Given the description of an element on the screen output the (x, y) to click on. 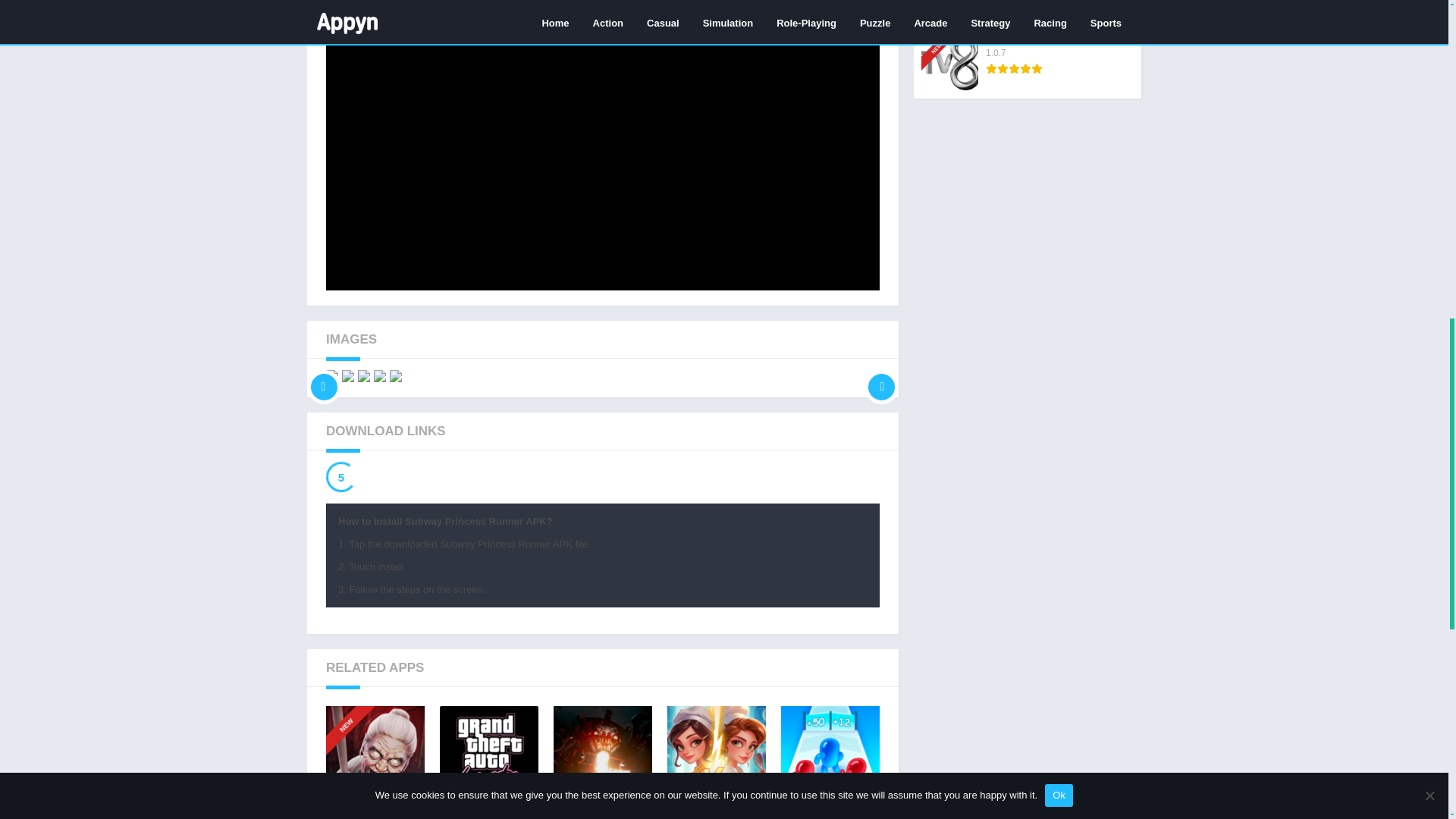
Grand Theft Auto: Vice City 4 (488, 754)
Cooking Wonder: Cooking Games 6 (715, 754)
Previous (323, 376)
Granny's House 3 (375, 754)
New (352, 699)
Next (881, 376)
Join Blob Clash 3D: Mob Runner 7 (829, 754)
Choo Choo Spider Monster Train 5 (602, 754)
